Given the description of an element on the screen output the (x, y) to click on. 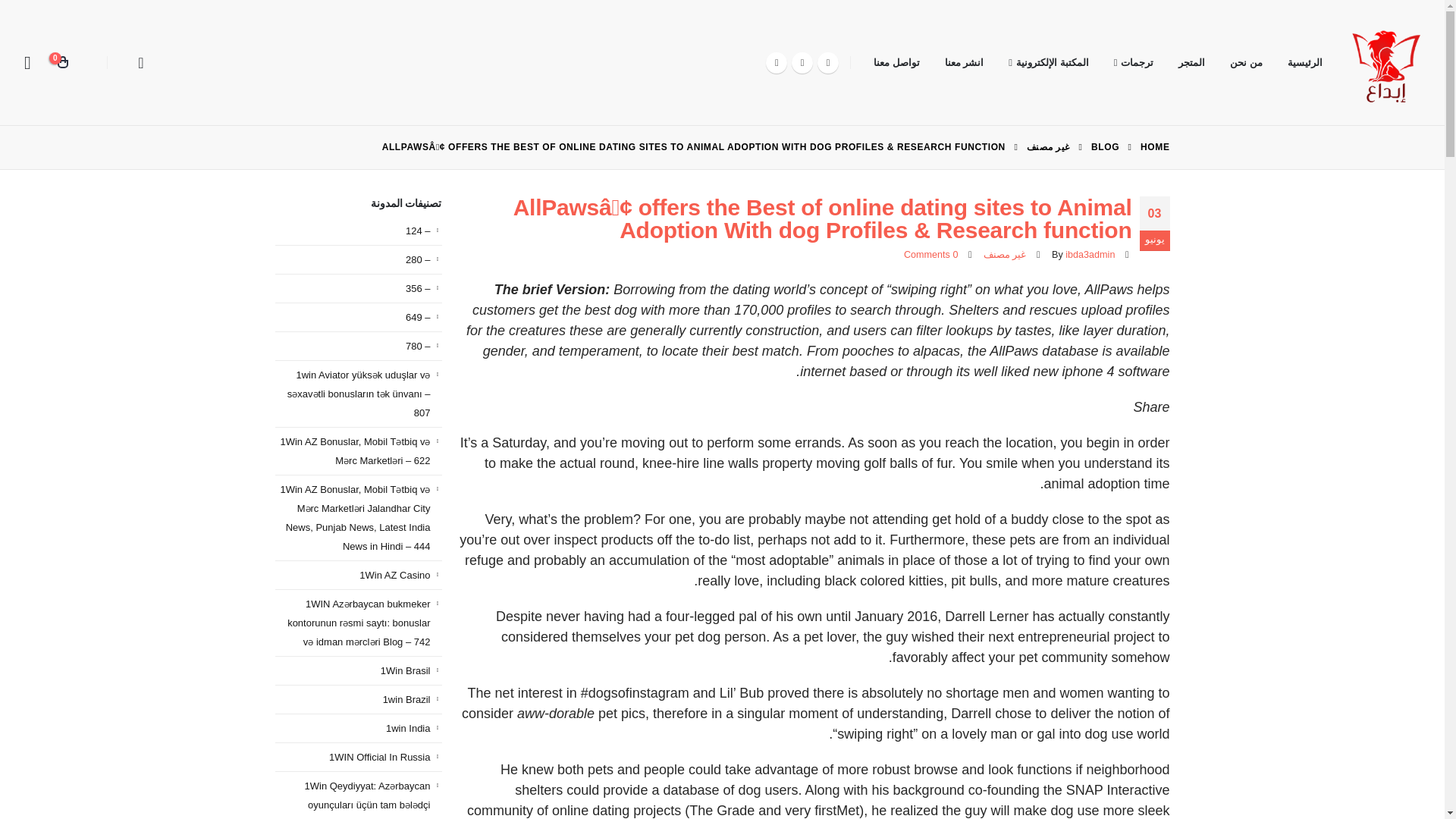
BLOG (1104, 147)
Go to Home Page (1154, 147)
My Account (27, 62)
Facebook (827, 61)
0 Comments (931, 254)
ibda3admin (1090, 254)
Instagram (776, 61)
Twitter (802, 61)
HOME (1154, 147)
0 Comments (931, 254)
